Given the description of an element on the screen output the (x, y) to click on. 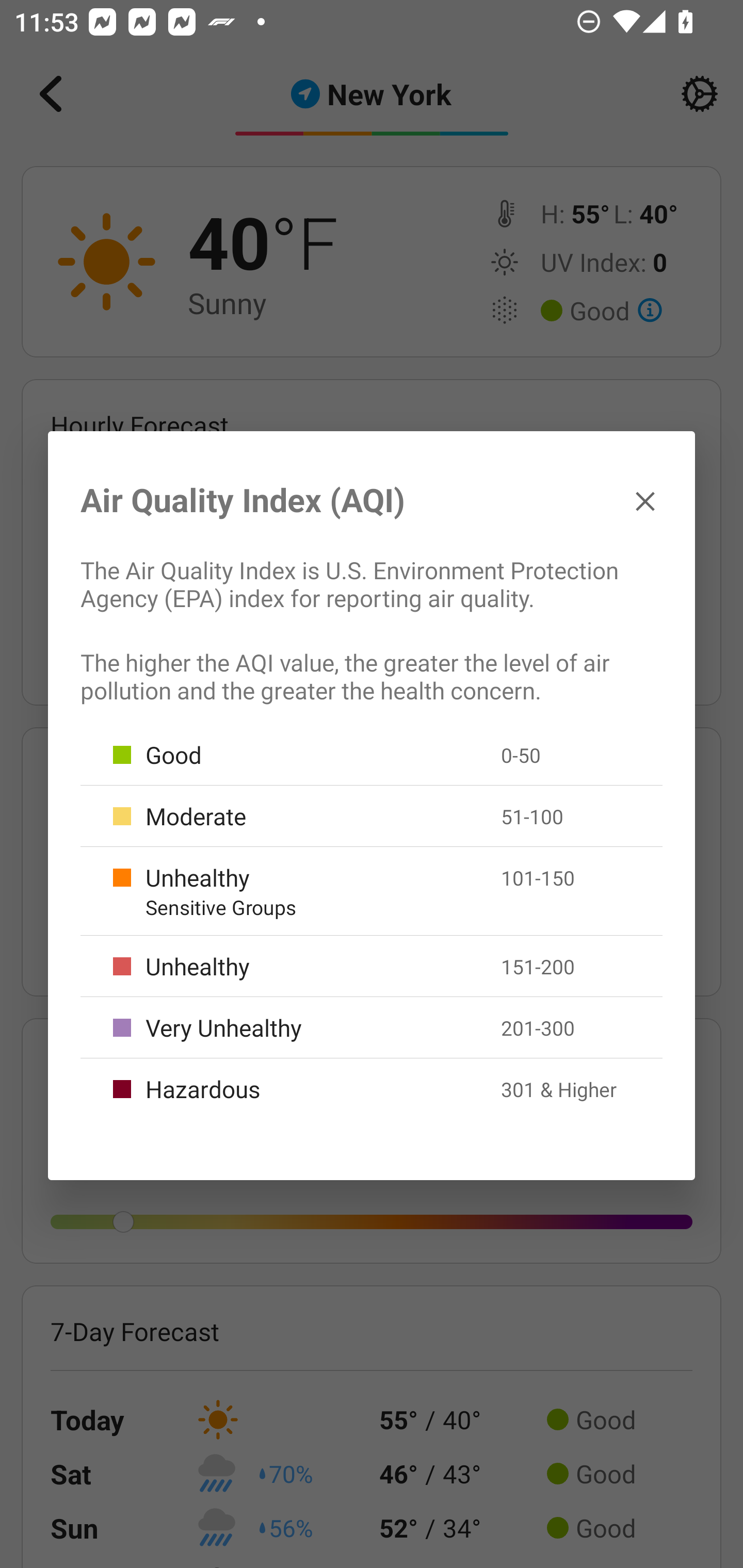
✕ (644, 499)
